Given the description of an element on the screen output the (x, y) to click on. 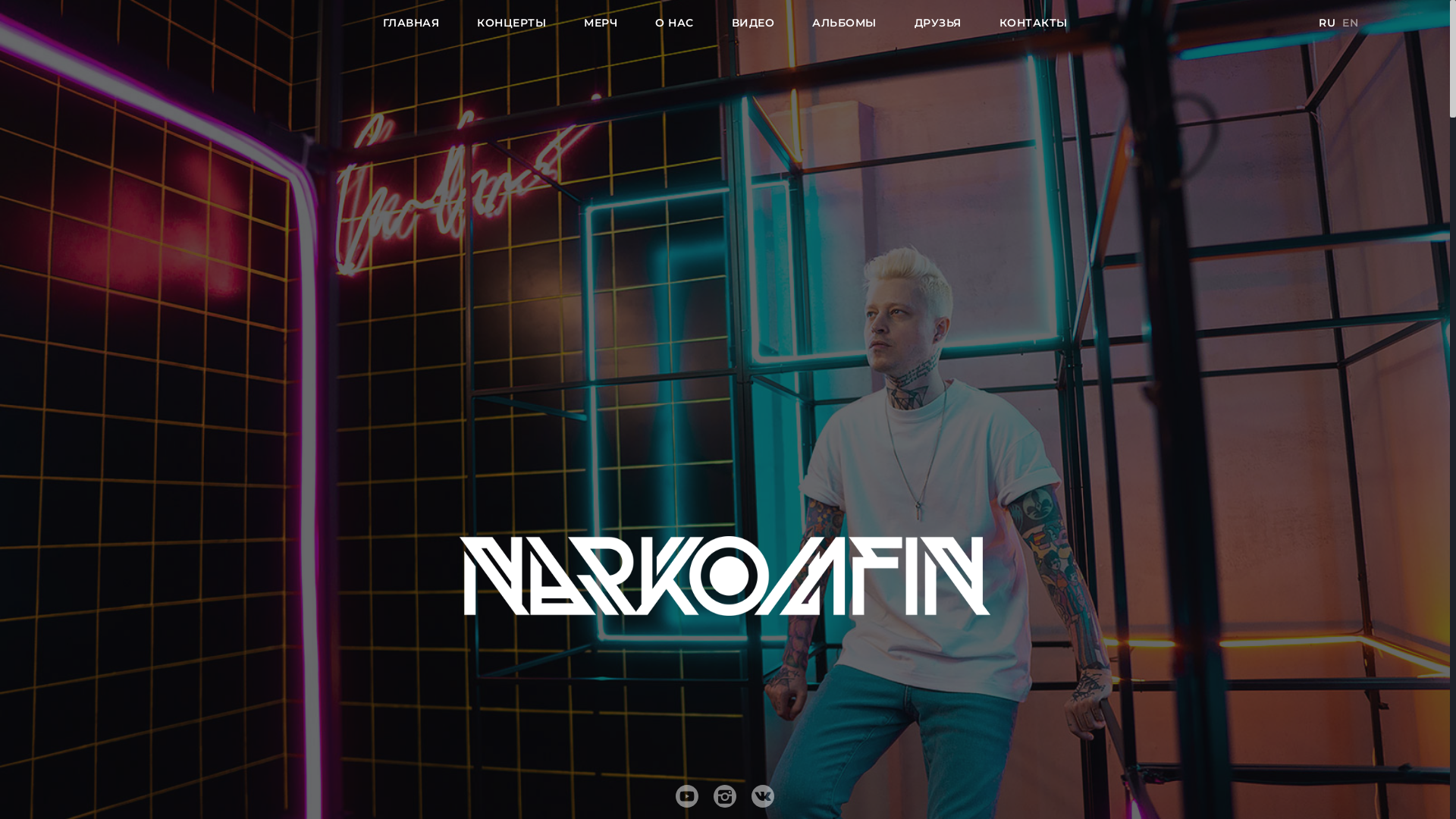
EN Element type: text (1350, 22)
